Given the description of an element on the screen output the (x, y) to click on. 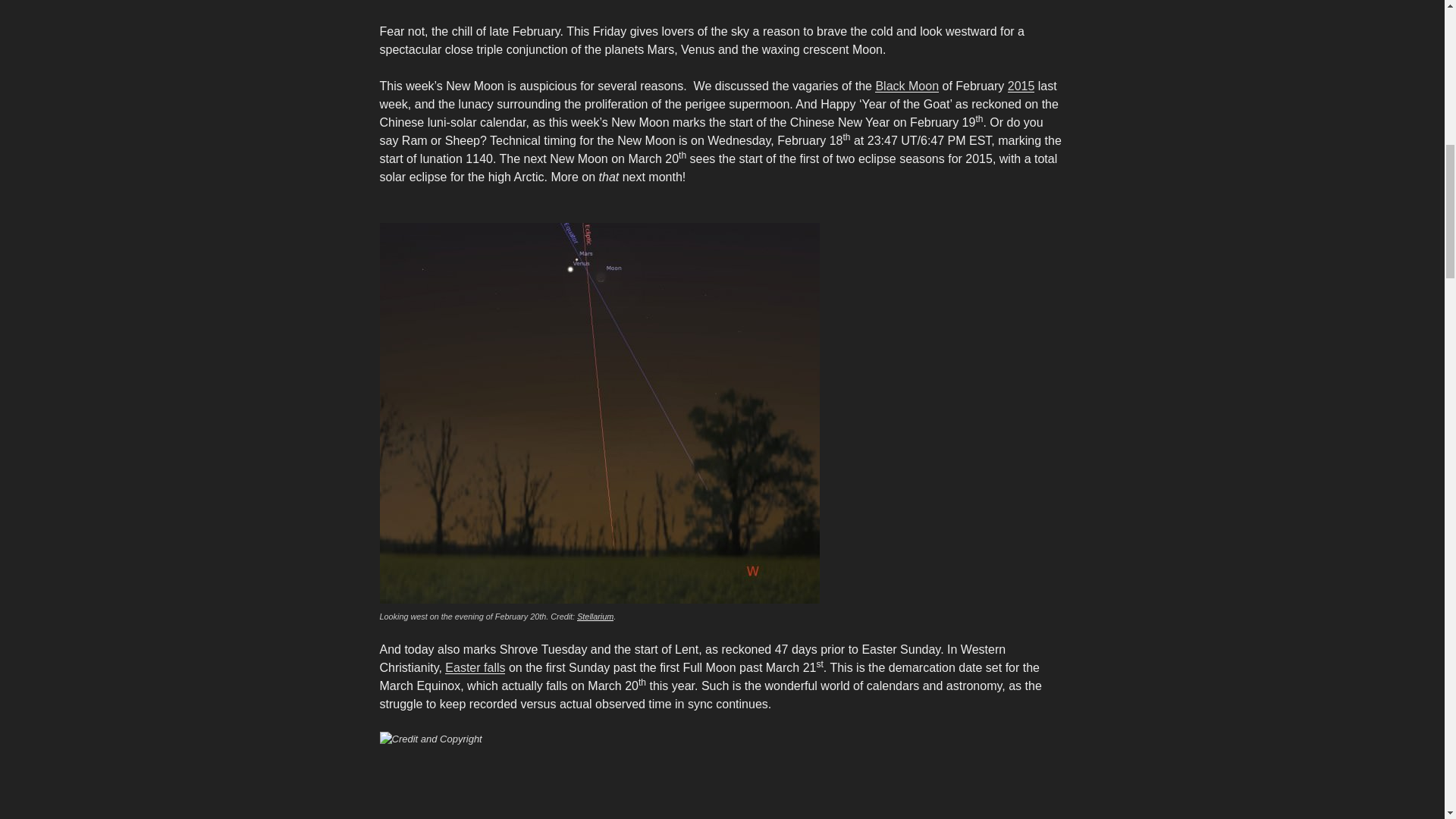
2015 (1021, 85)
Easter falls (475, 667)
Black Moon (907, 85)
Stellarium (594, 615)
